Given the description of an element on the screen output the (x, y) to click on. 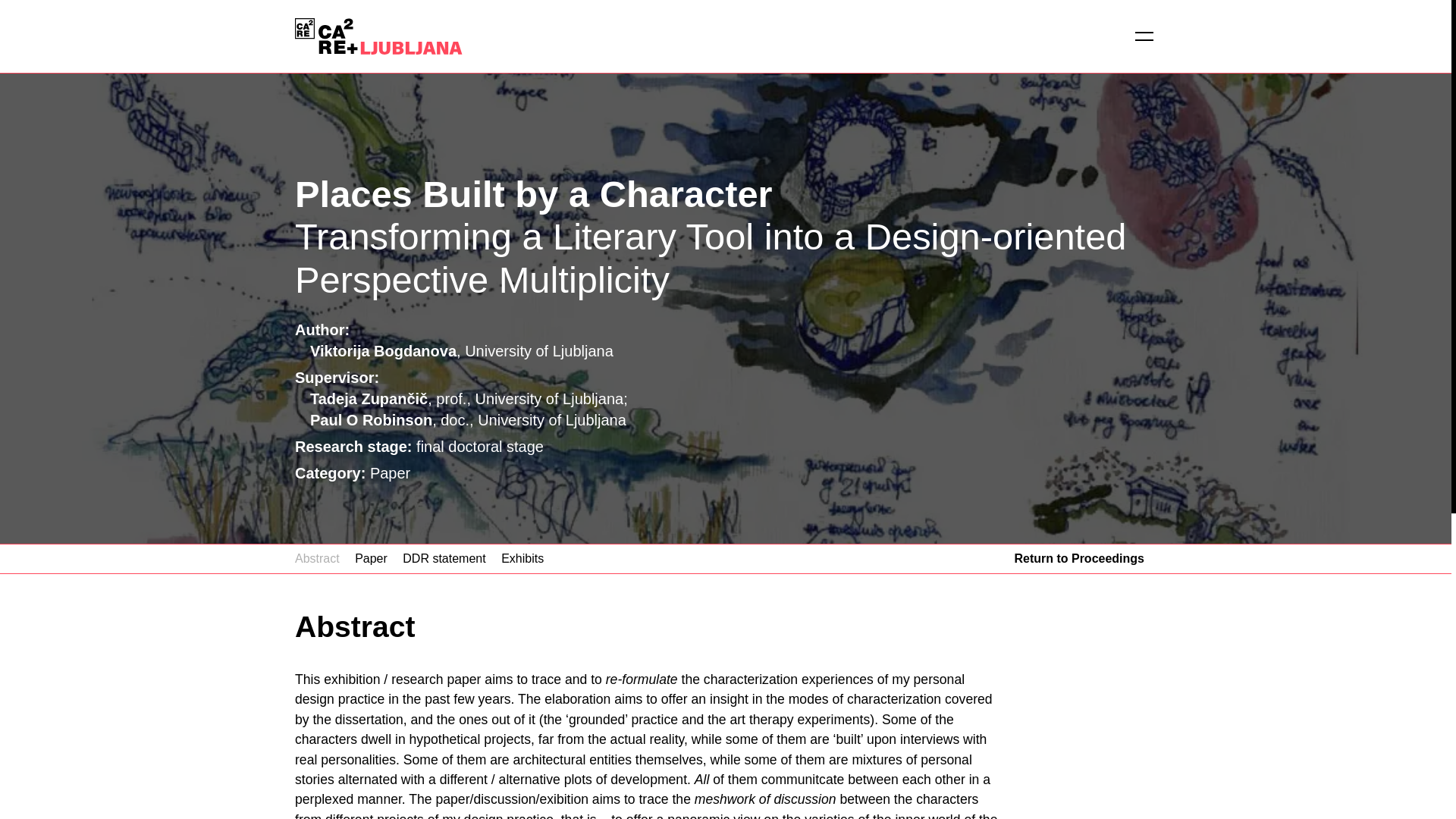
Return to Proceedings (1078, 558)
DDR statement (443, 558)
Paper (371, 558)
Abstract (317, 558)
Exhibits (521, 558)
